Given the description of an element on the screen output the (x, y) to click on. 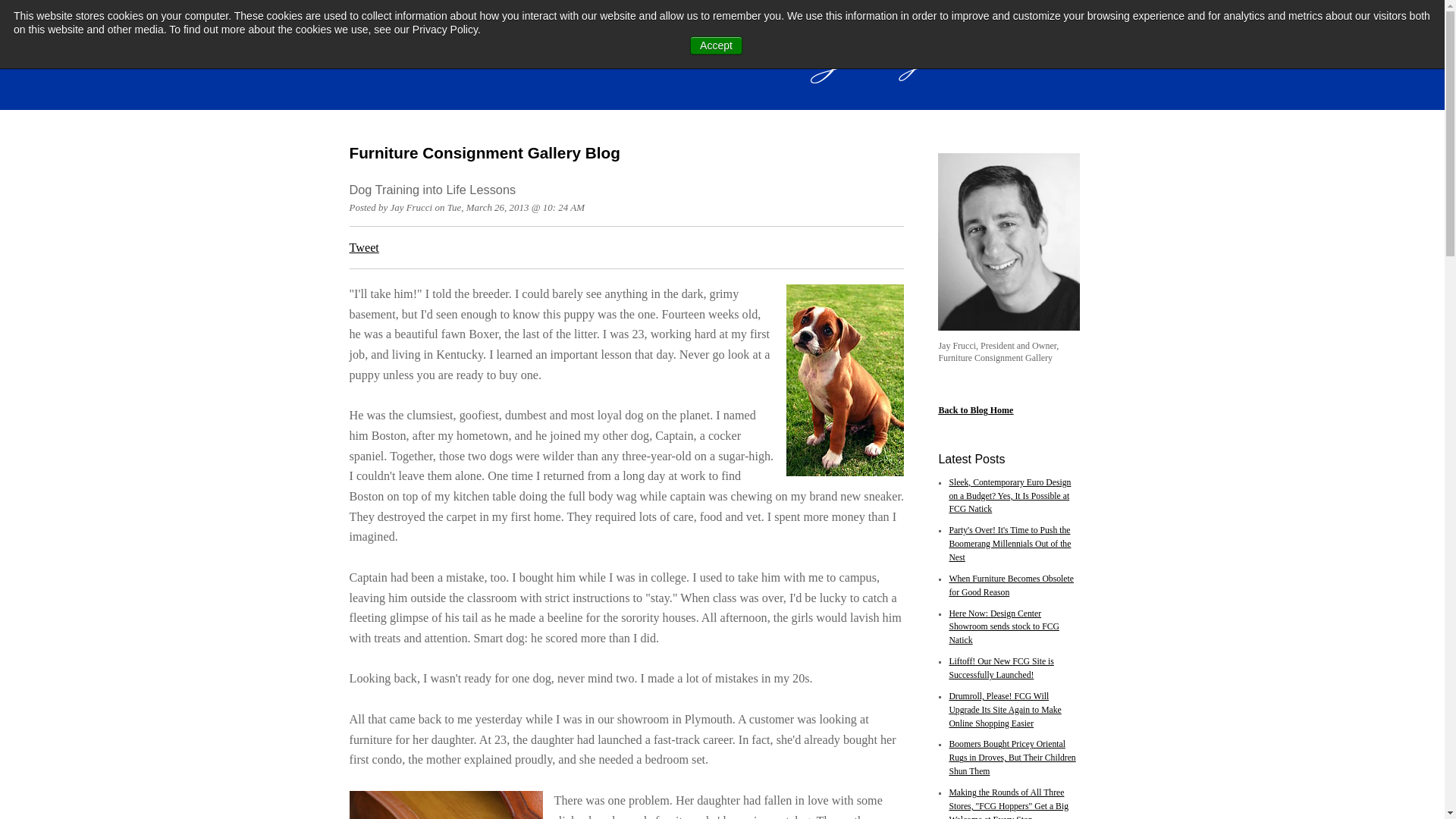
Liftoff! Our New FCG Site is Successfully Launched! (1000, 668)
Back to Blog Home (975, 409)
When Furniture Becomes Obsolete for Good Reason (1011, 585)
Tweet (363, 247)
Here Now: Design Center Showroom sends stock to FCG Natick (1003, 627)
Dog Training into Life Lessons (432, 189)
Accept (716, 45)
